Given the description of an element on the screen output the (x, y) to click on. 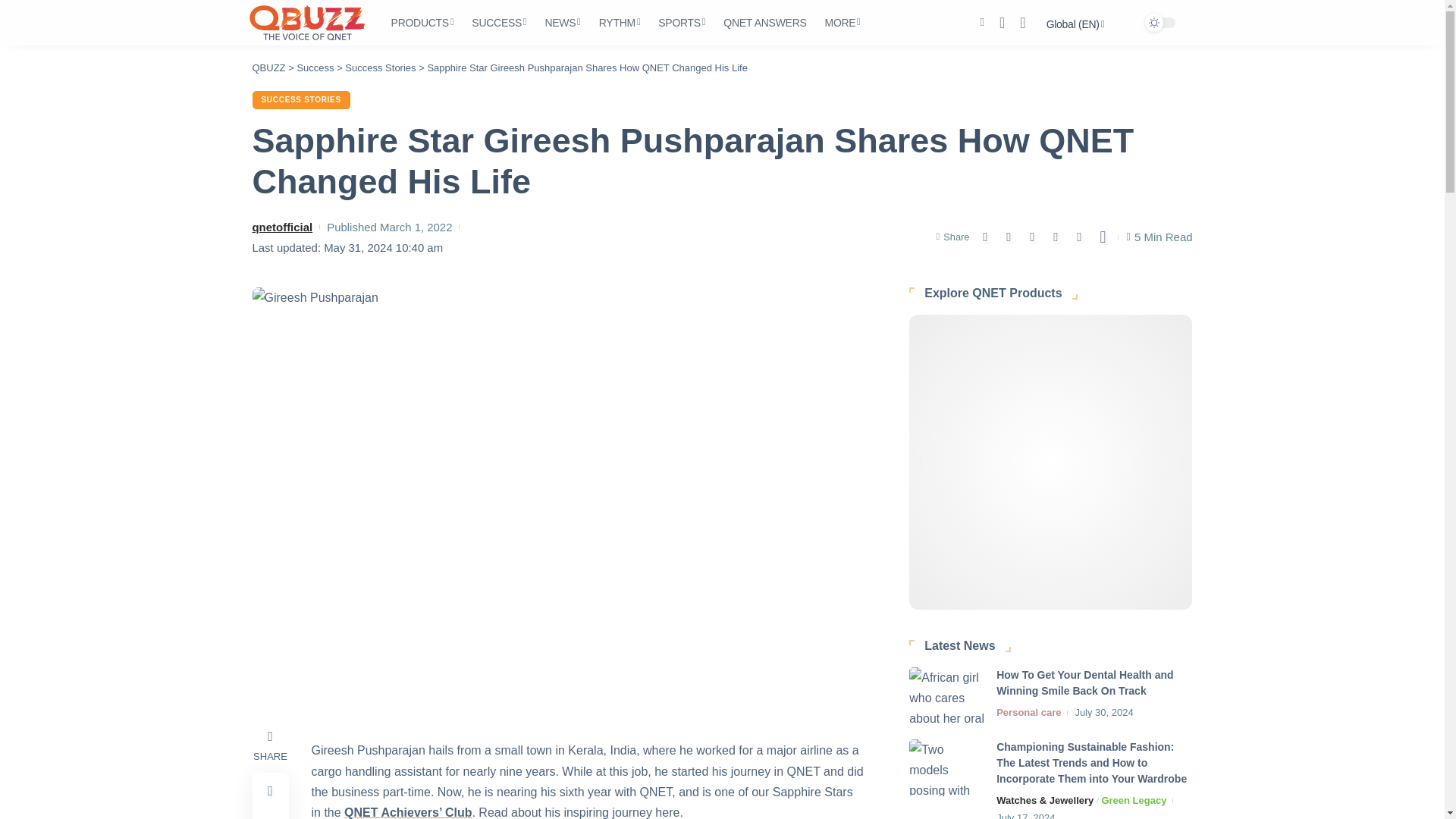
PRODUCTS (422, 22)
QNET ANSWERS (764, 22)
NEWS (562, 22)
SUCCESS (499, 22)
RYTHM (619, 22)
Go to QBUZZ. (268, 67)
Go to the Success Stories Category archives. (379, 67)
Go to the Success Category archives. (315, 67)
MORE (842, 22)
